Given the description of an element on the screen output the (x, y) to click on. 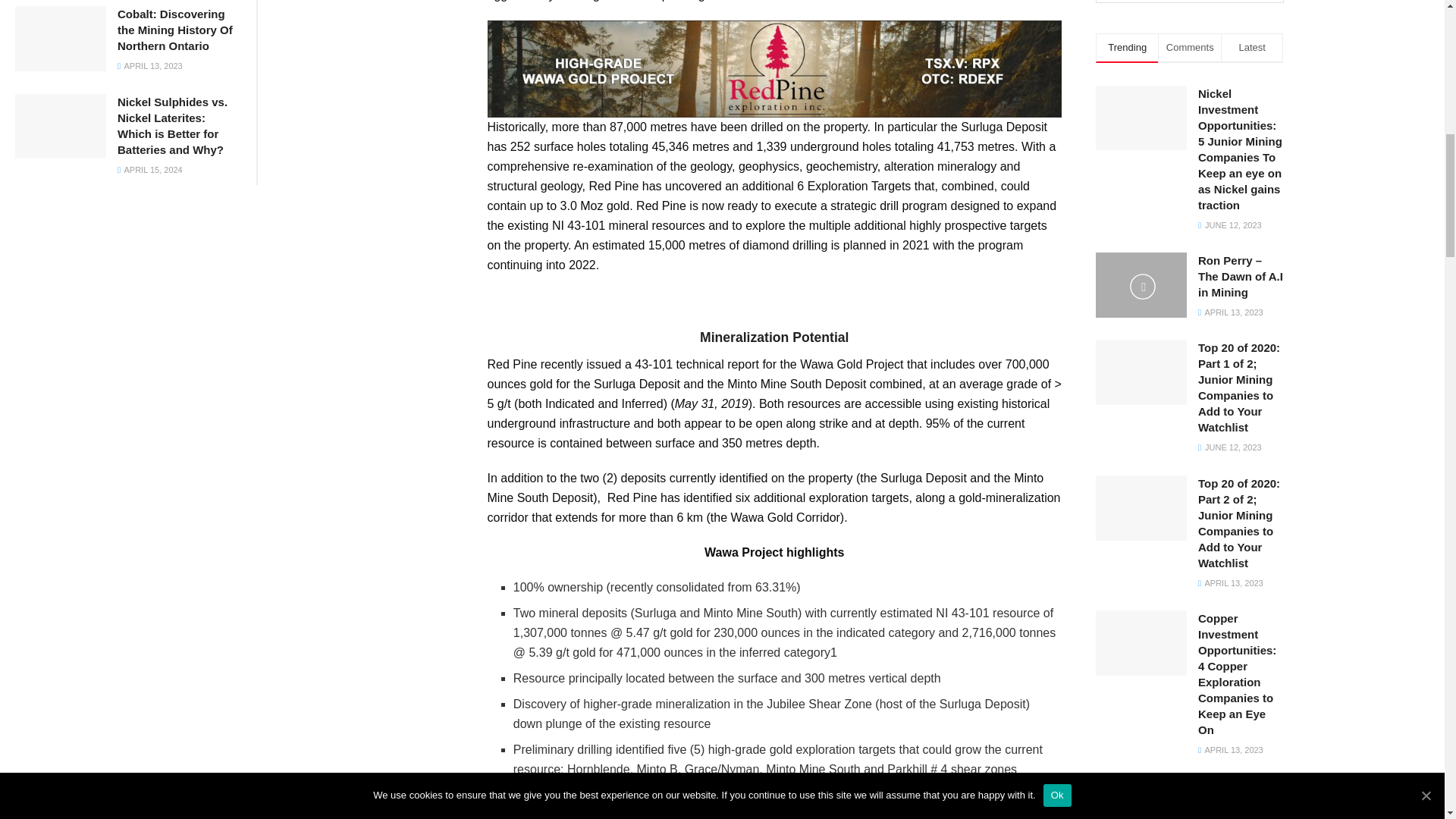
Cobalt: Discovering the Mining History Of Northern Ontario (174, 29)
